Given the description of an element on the screen output the (x, y) to click on. 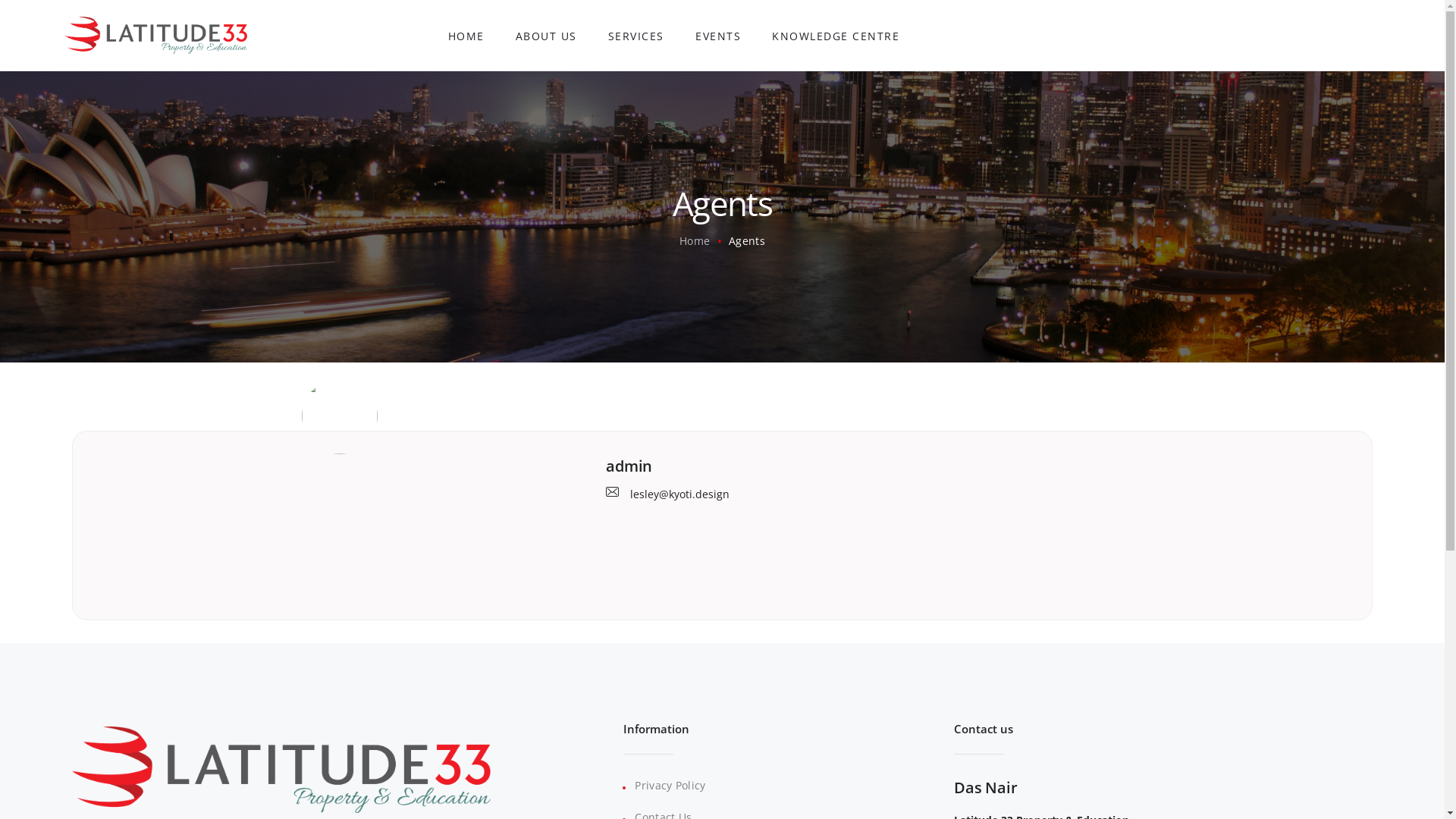
admin Element type: text (977, 466)
SERVICES Element type: text (635, 34)
lesley@kyoti.design Element type: text (667, 492)
ABOUT US Element type: text (545, 34)
EVENTS Element type: text (718, 34)
Privacy Policy Element type: text (669, 785)
KNOWLEDGE CENTRE Element type: text (835, 34)
HOME Element type: text (465, 34)
Home Element type: text (694, 240)
